Given the description of an element on the screen output the (x, y) to click on. 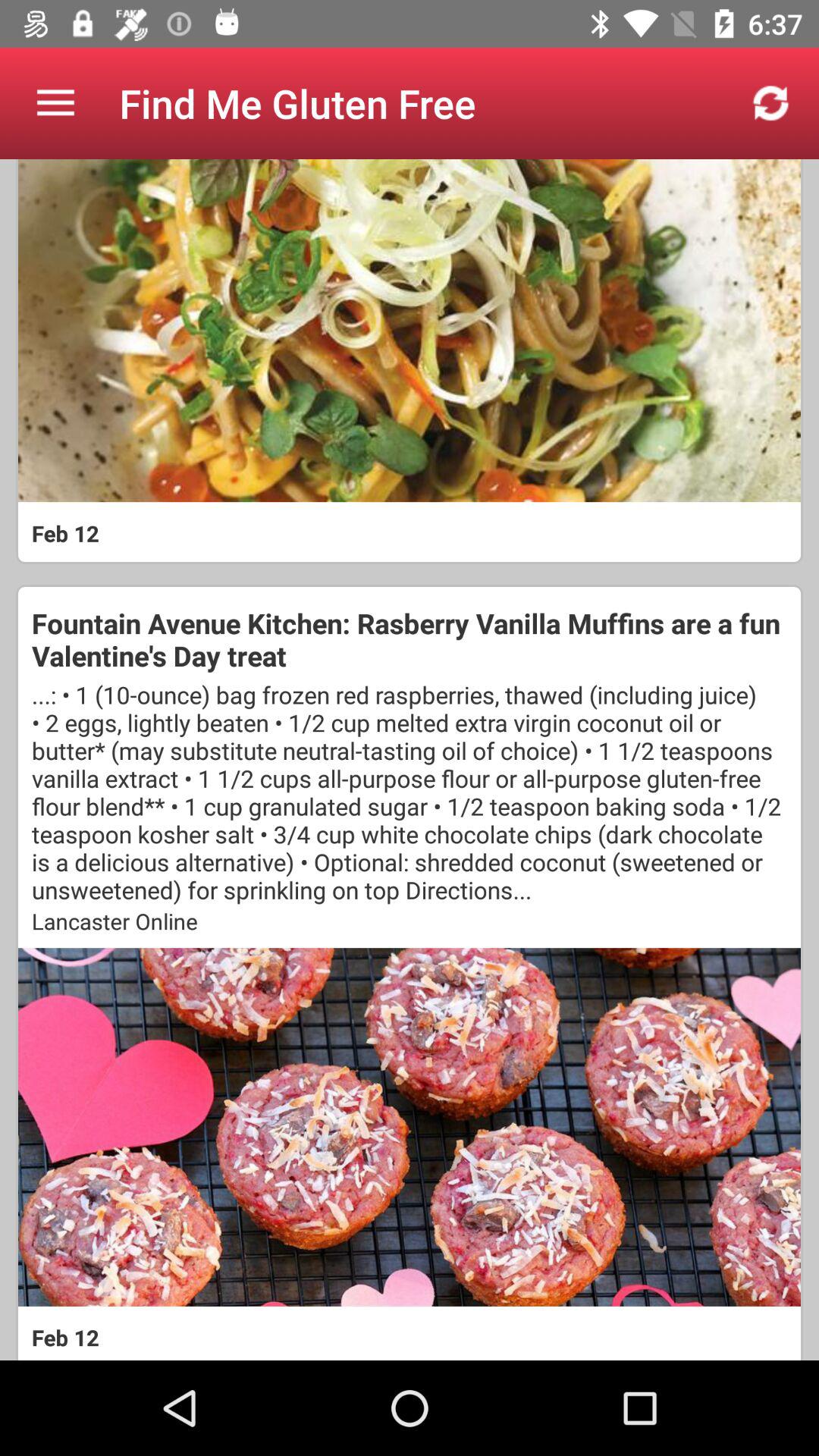
jump until the fountain avenue kitchen item (409, 639)
